Given the description of an element on the screen output the (x, y) to click on. 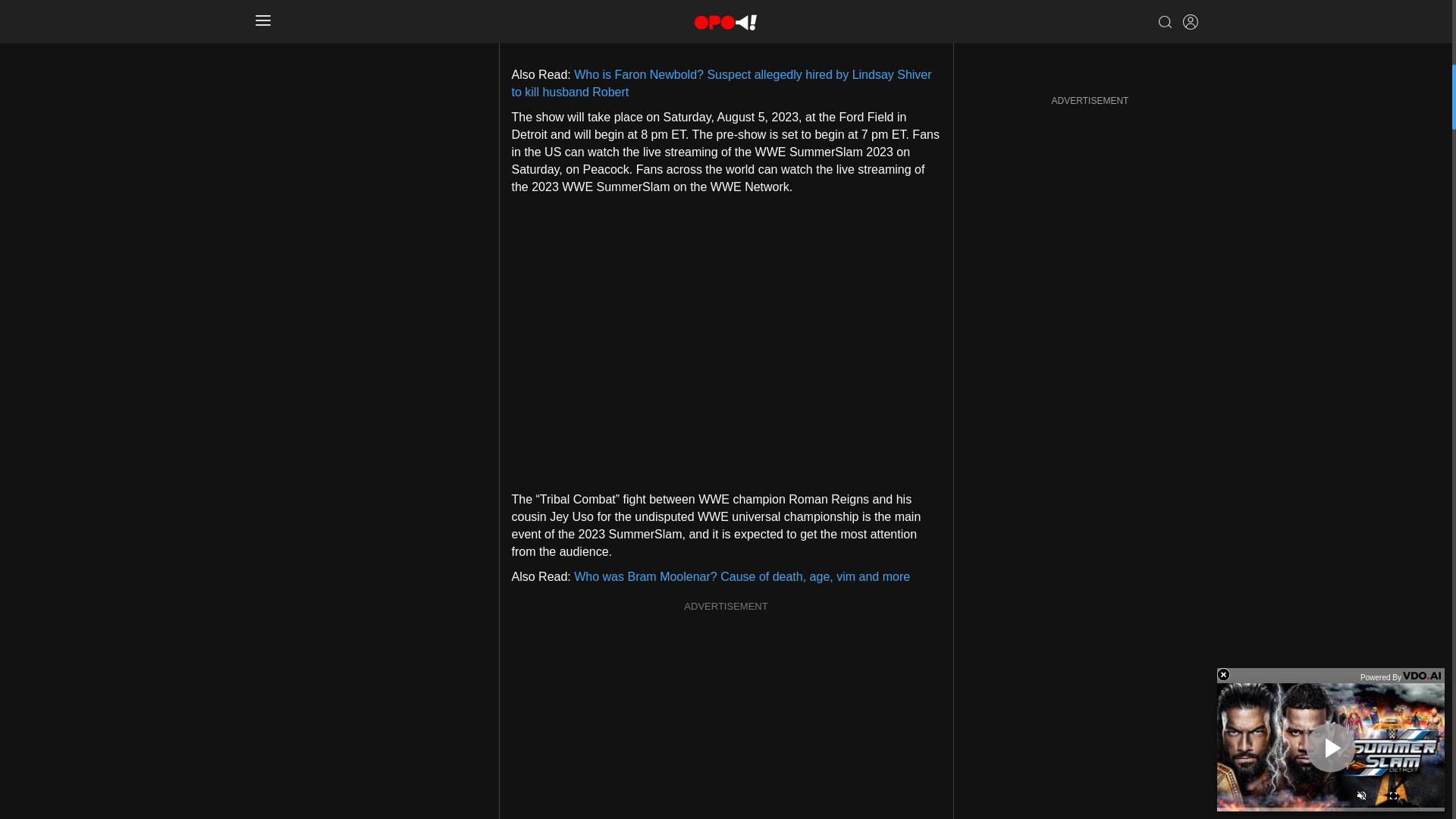
3rd party ad content (726, 20)
